Given the description of an element on the screen output the (x, y) to click on. 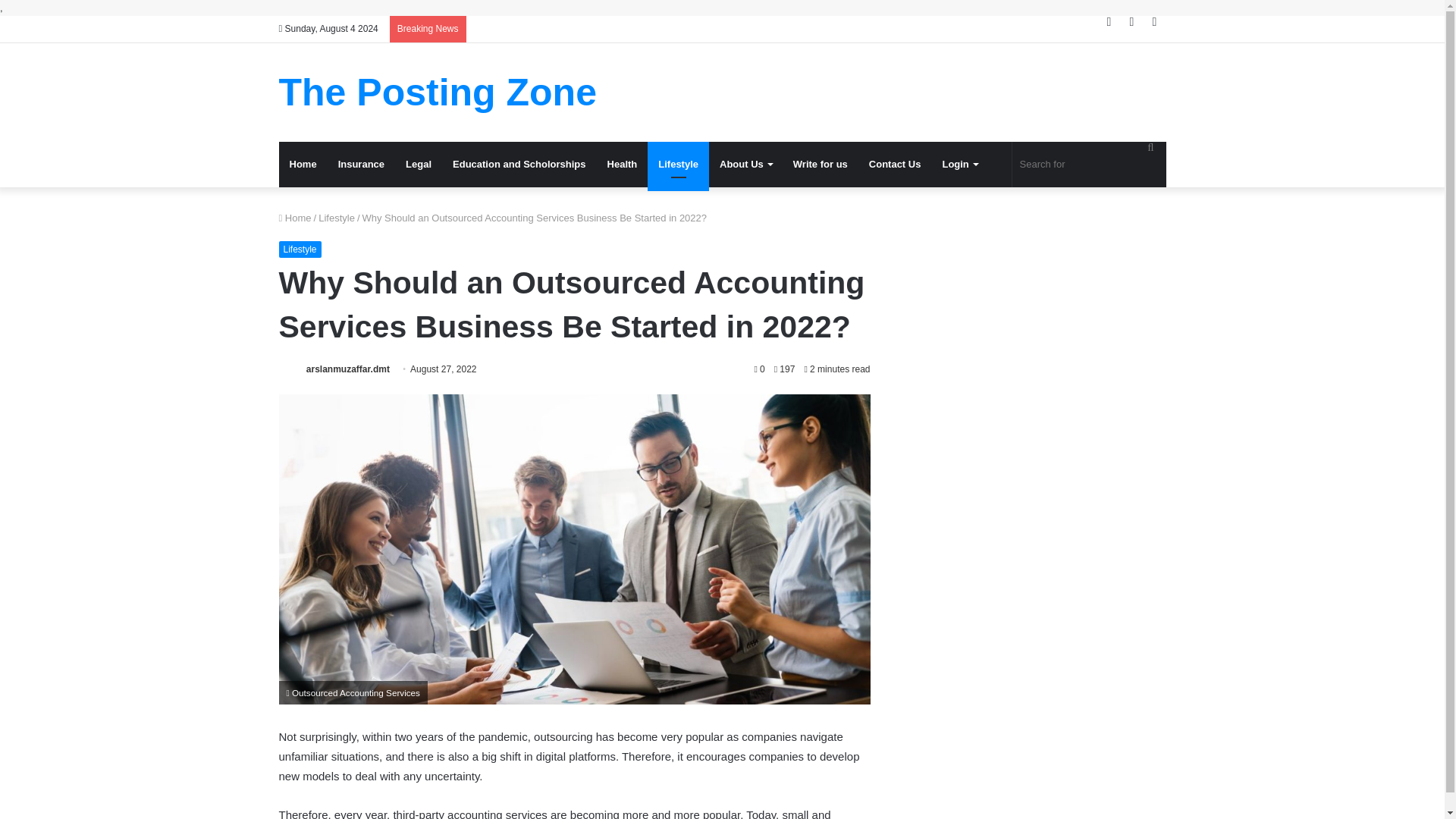
Legal (418, 164)
Sidebar (1154, 21)
Search for (1088, 164)
arslanmuzaffar.dmt (347, 368)
Search for (1150, 147)
Lifestyle (300, 248)
Lifestyle (678, 164)
About Us (746, 164)
Health (621, 164)
Home (295, 217)
Random Article (1131, 21)
Home (303, 164)
Education and Scholorships (519, 164)
Random Article (1131, 21)
The Posting Zone (437, 92)
